Given the description of an element on the screen output the (x, y) to click on. 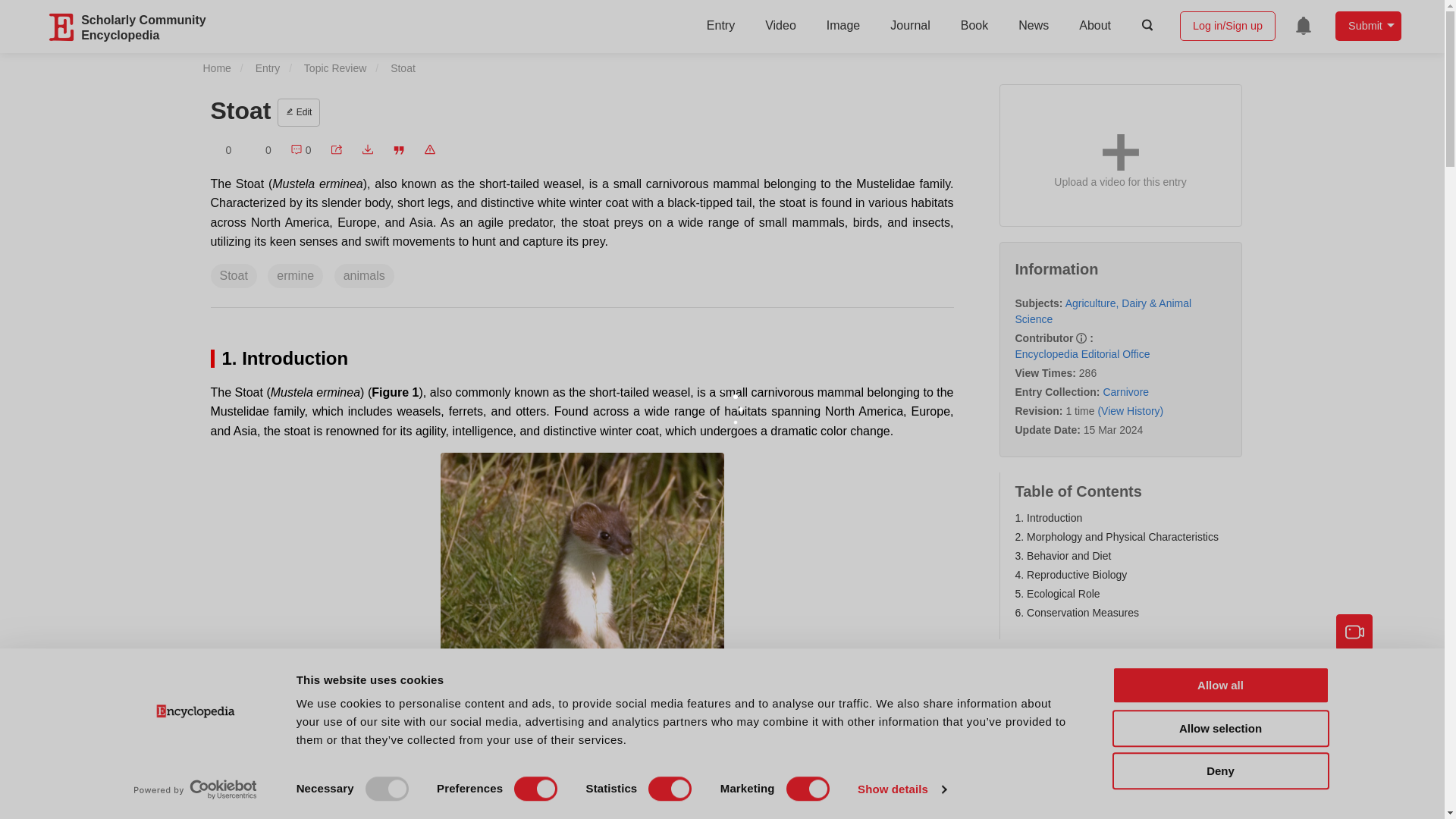
Like (260, 149)
Comment (300, 149)
Deny (1219, 770)
Favorite (221, 149)
Edit (299, 112)
Show details (900, 789)
